Given the description of an element on the screen output the (x, y) to click on. 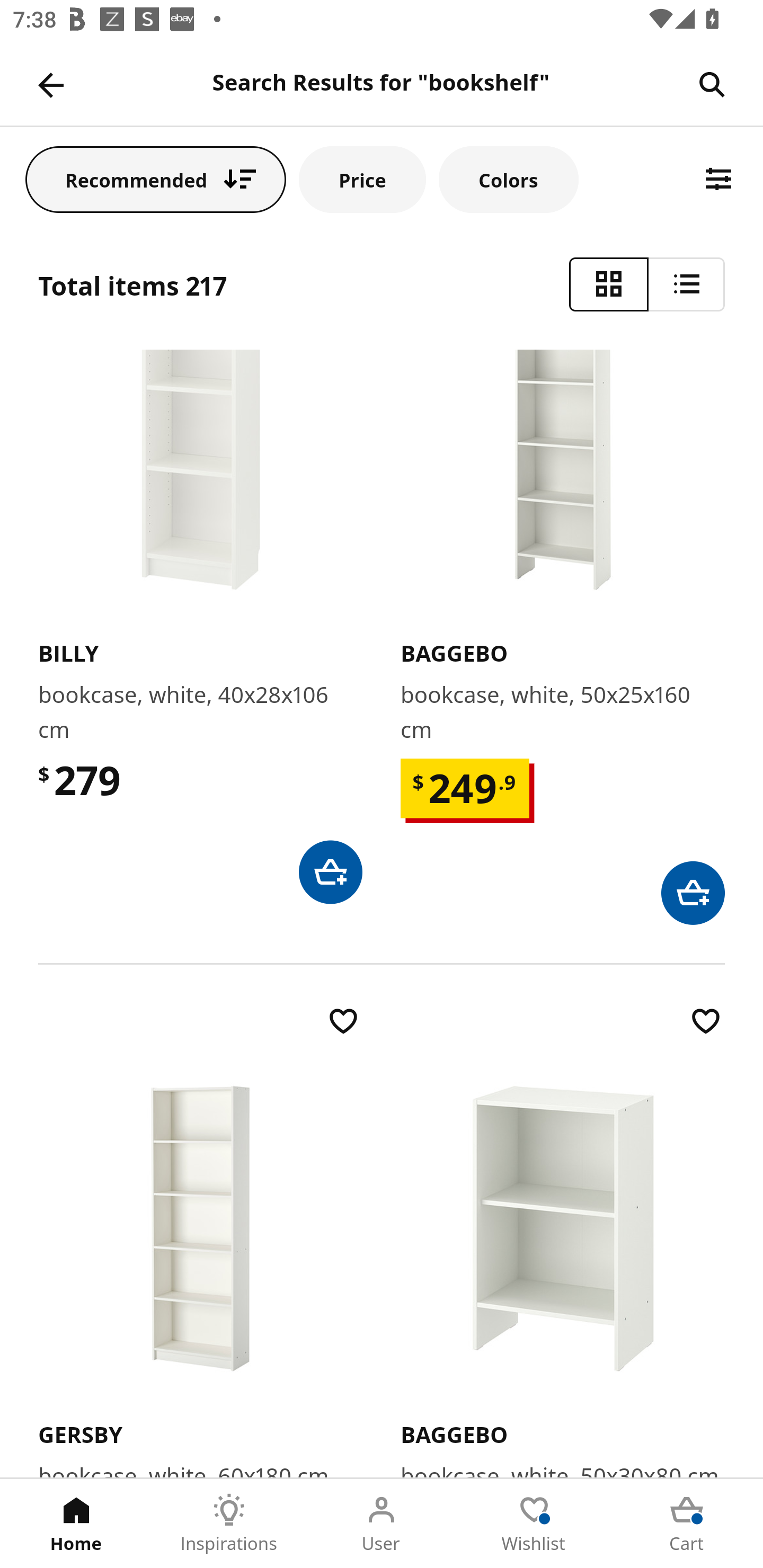
Recommended (155, 179)
Price (362, 179)
Colors (508, 179)
​B​I​L​L​Y​
bookcase, white, 40x28x106 cm
$
279 (200, 626)
​G​E​R​S​B​Y​
bookcase, white, 60x180 cm
$
279
.9 (200, 1240)
Home
Tab 1 of 5 (76, 1522)
Inspirations
Tab 2 of 5 (228, 1522)
User
Tab 3 of 5 (381, 1522)
Wishlist
Tab 4 of 5 (533, 1522)
Cart
Tab 5 of 5 (686, 1522)
